Given the description of an element on the screen output the (x, y) to click on. 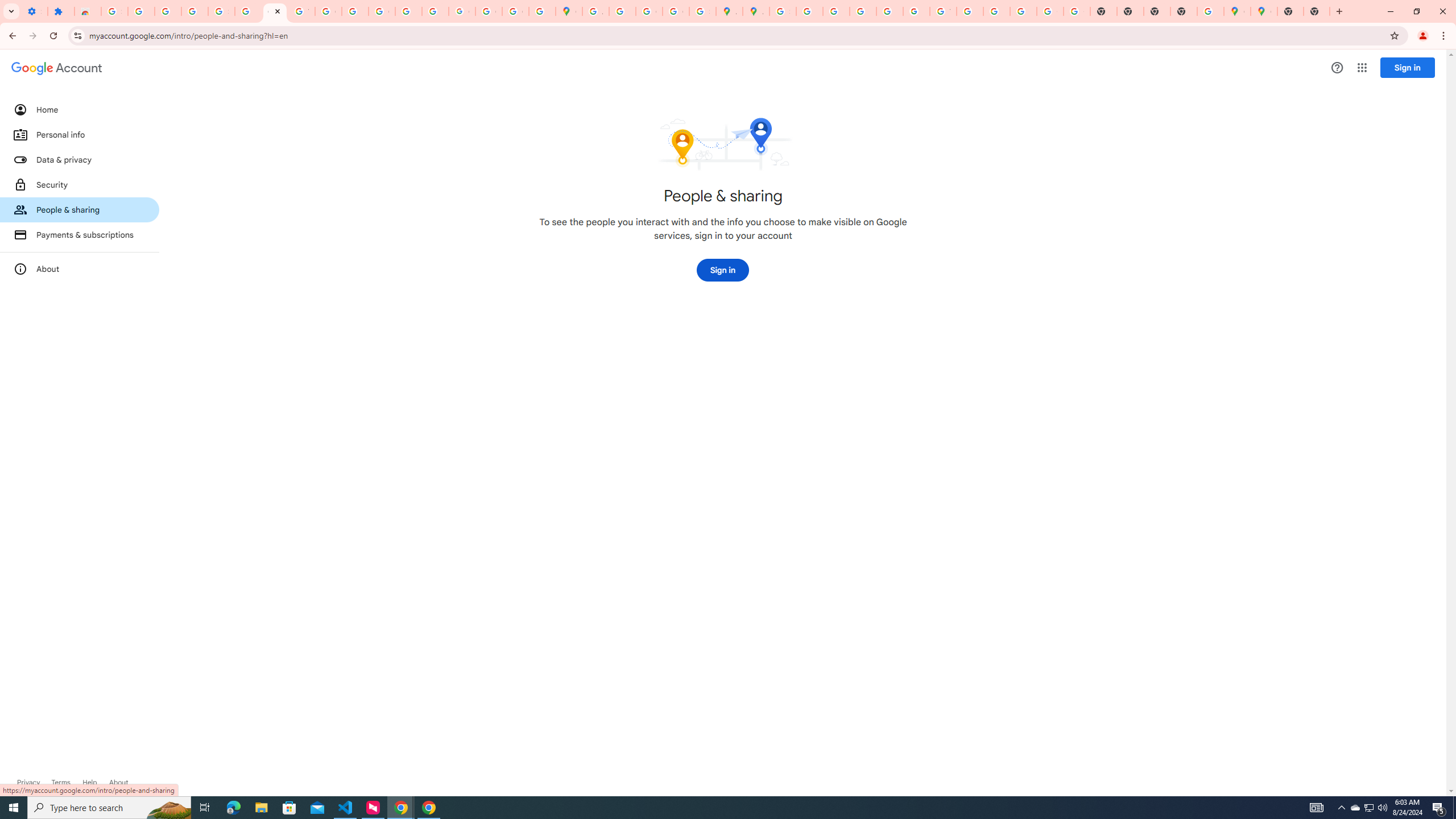
Google Maps (1236, 11)
Reviews: Helix Fruit Jump Arcade Game (87, 11)
People & sharing (79, 209)
Payments & subscriptions (79, 234)
New Tab (1316, 11)
Google Maps (569, 11)
Safety in Our Products - Google Safety Center (702, 11)
